Given the description of an element on the screen output the (x, y) to click on. 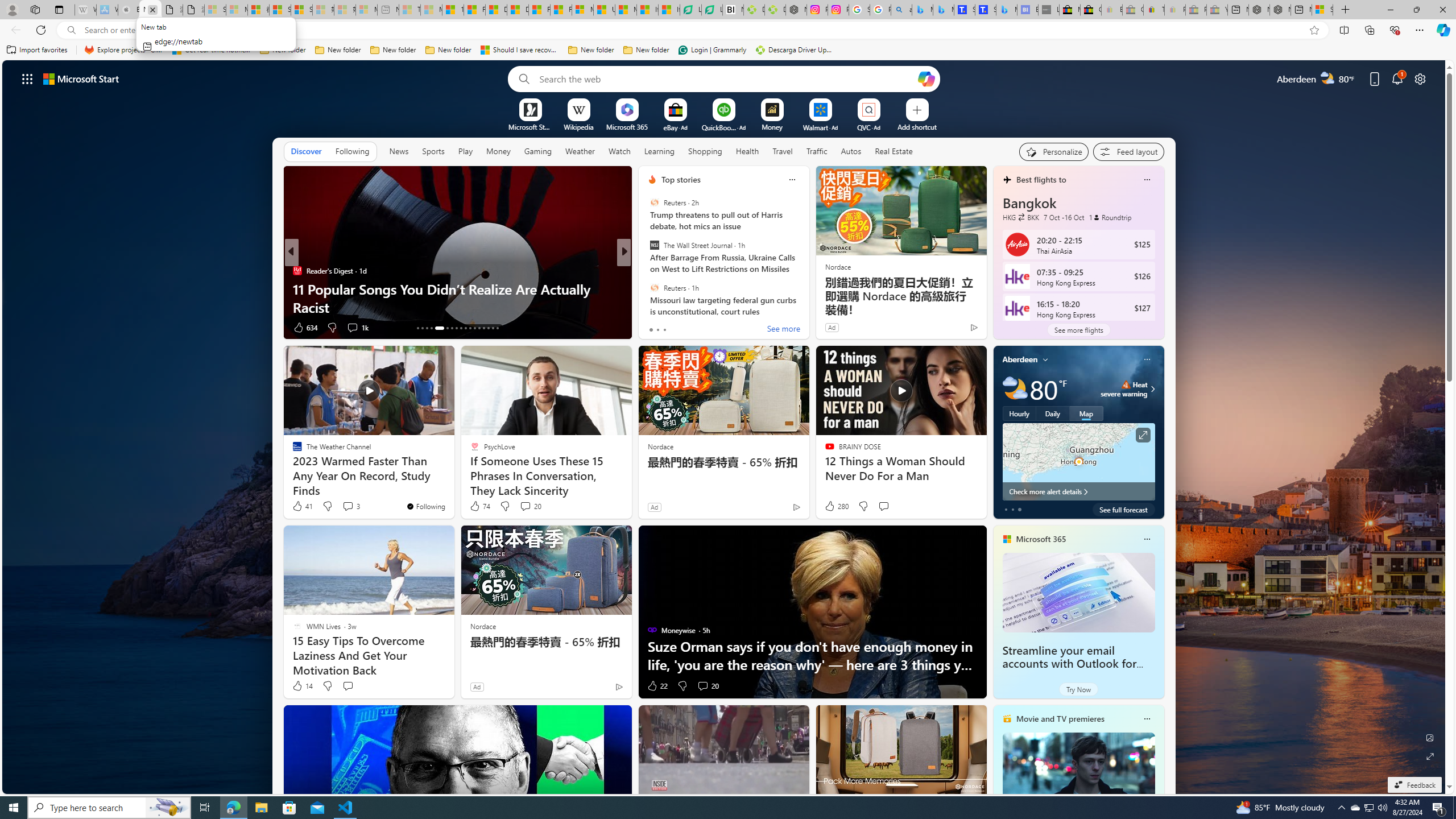
View comments 18 Comment (707, 327)
View comments 2 Comment (692, 327)
375 Like (654, 327)
Heat - Severe (1126, 384)
Reader's Digest (296, 270)
View comments 20 Comment (703, 685)
